Given the description of an element on the screen output the (x, y) to click on. 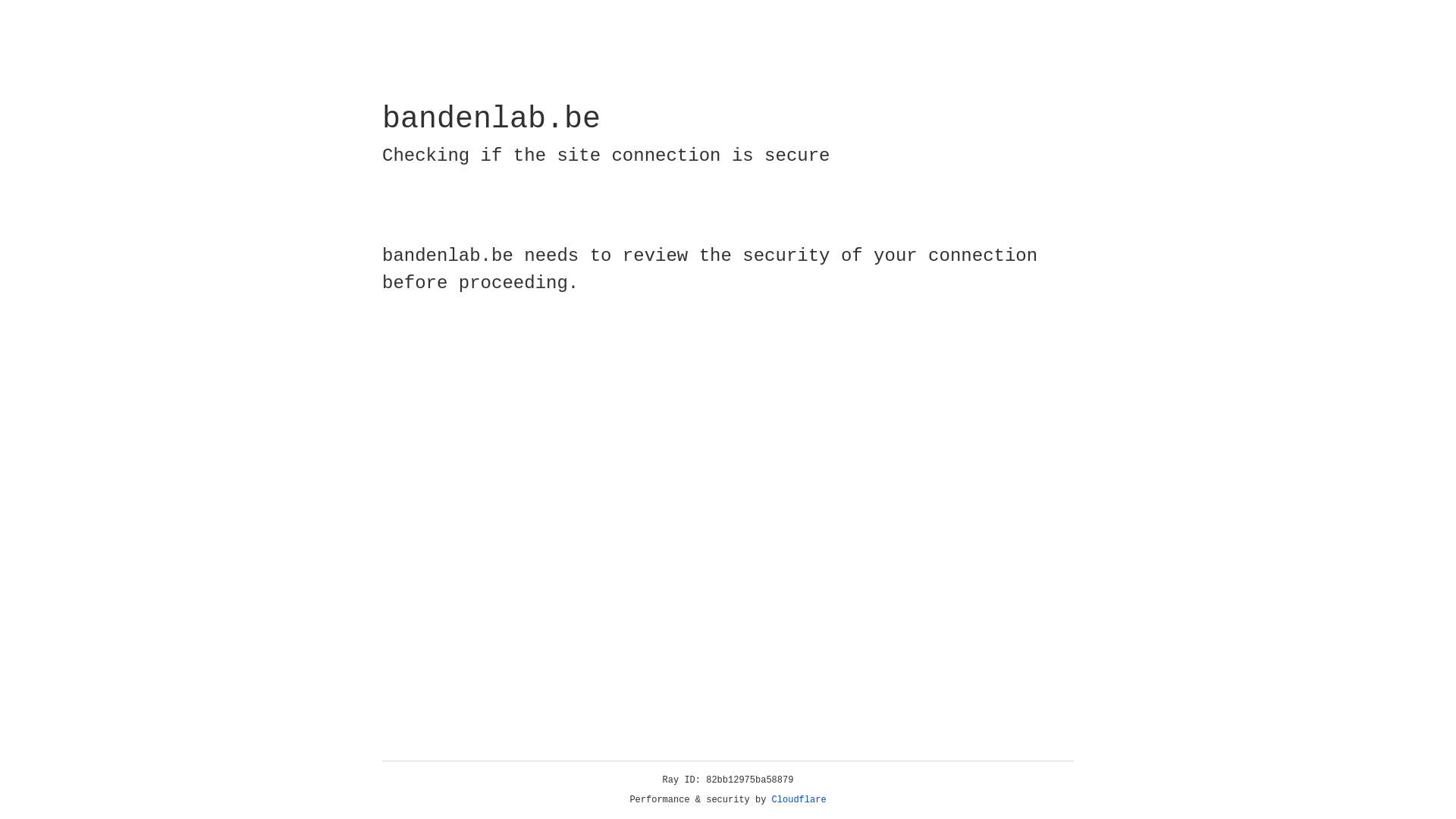
Cloudflare Element type: text (798, 799)
